Given the description of an element on the screen output the (x, y) to click on. 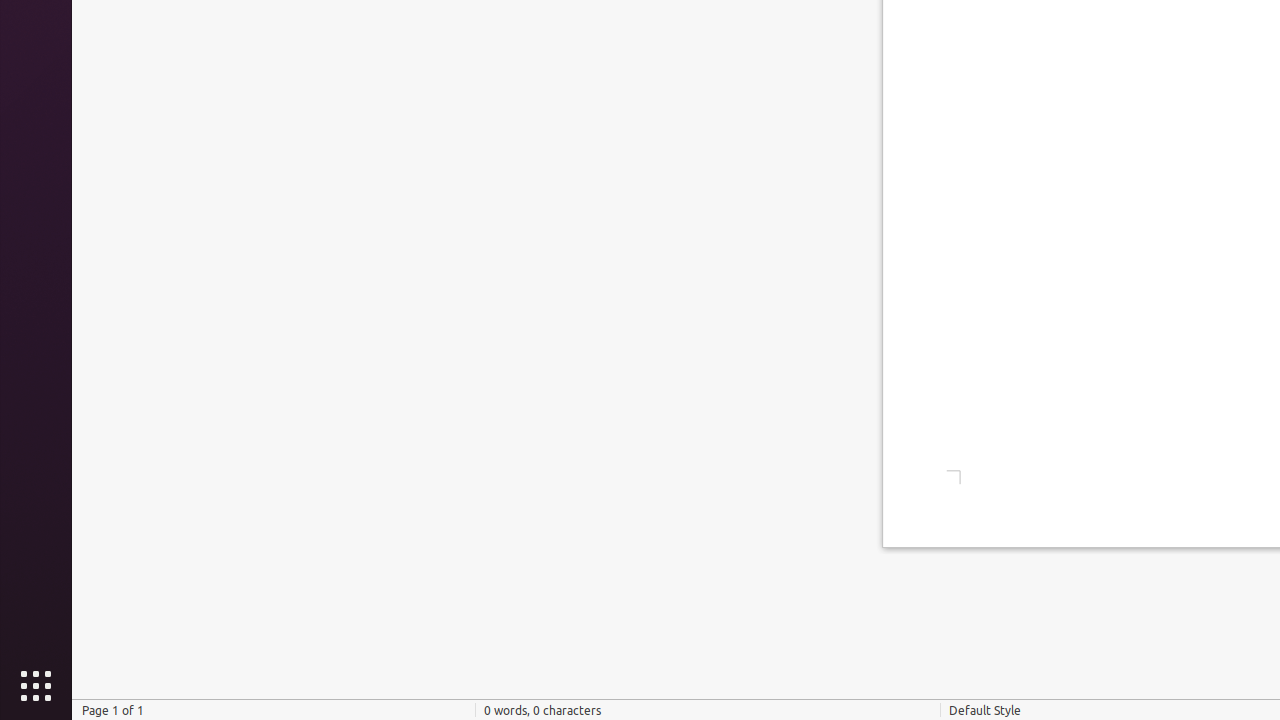
Show Applications Element type: toggle-button (36, 686)
